Given the description of an element on the screen output the (x, y) to click on. 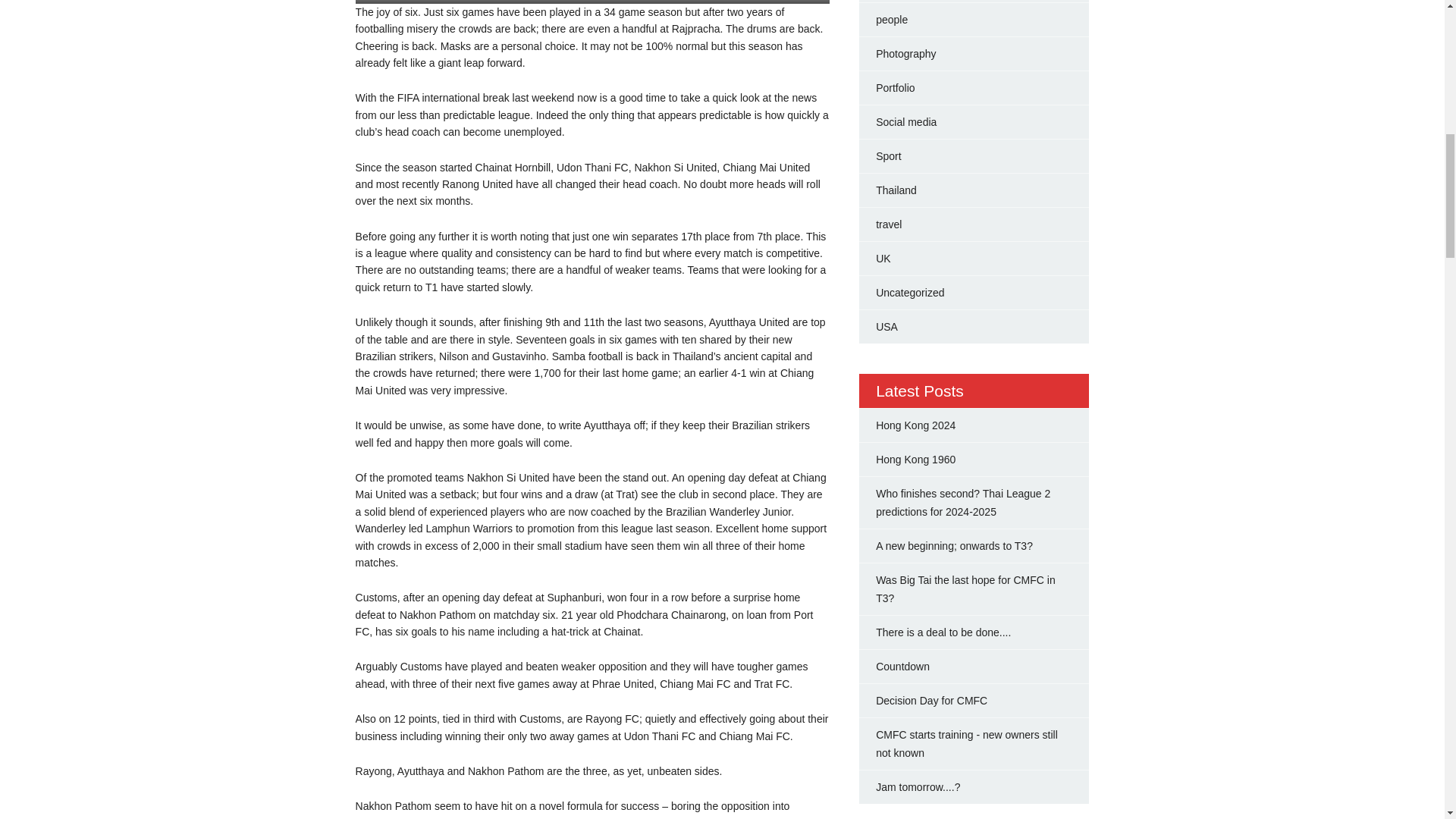
Look Hong Kong 2024 (915, 425)
Look Countdown (903, 666)
Look Hong Kong 1960 (915, 459)
Look There is a deal to be done.... (943, 632)
Look Was Big Tai the last hope for CMFC in T3? (965, 589)
Look A new beginning; onwards to T3? (954, 545)
